Given the description of an element on the screen output the (x, y) to click on. 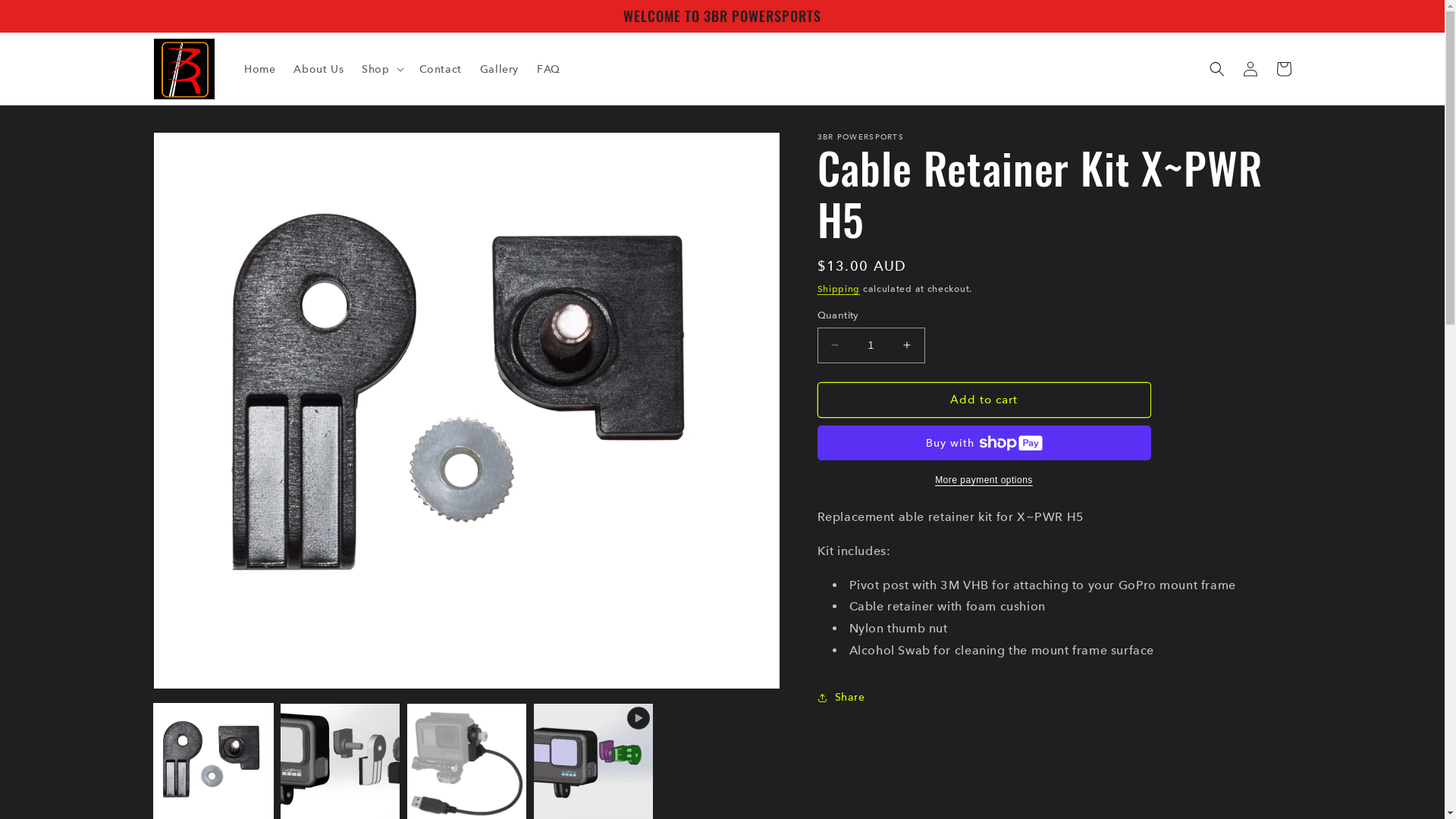
Contact Element type: text (440, 68)
Add to cart Element type: text (984, 399)
About Us Element type: text (318, 68)
FAQ Element type: text (548, 68)
Shipping Element type: text (838, 288)
Gallery Element type: text (498, 68)
Log in Element type: text (1249, 68)
More payment options Element type: text (984, 479)
Cart Element type: text (1282, 68)
Decrease quantity for Cable Retainer Kit X~PWR H5 Element type: text (834, 345)
Skip to product information Element type: text (199, 149)
Home Element type: text (259, 68)
Increase quantity for Cable Retainer Kit X~PWR H5 Element type: text (907, 345)
